Given the description of an element on the screen output the (x, y) to click on. 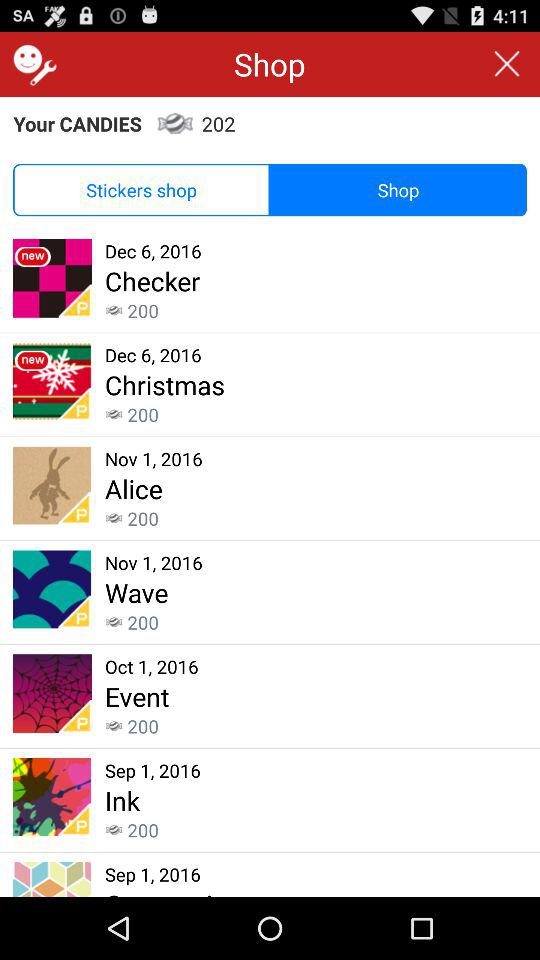
turn on the app below the oct 1, 2016 (137, 696)
